Given the description of an element on the screen output the (x, y) to click on. 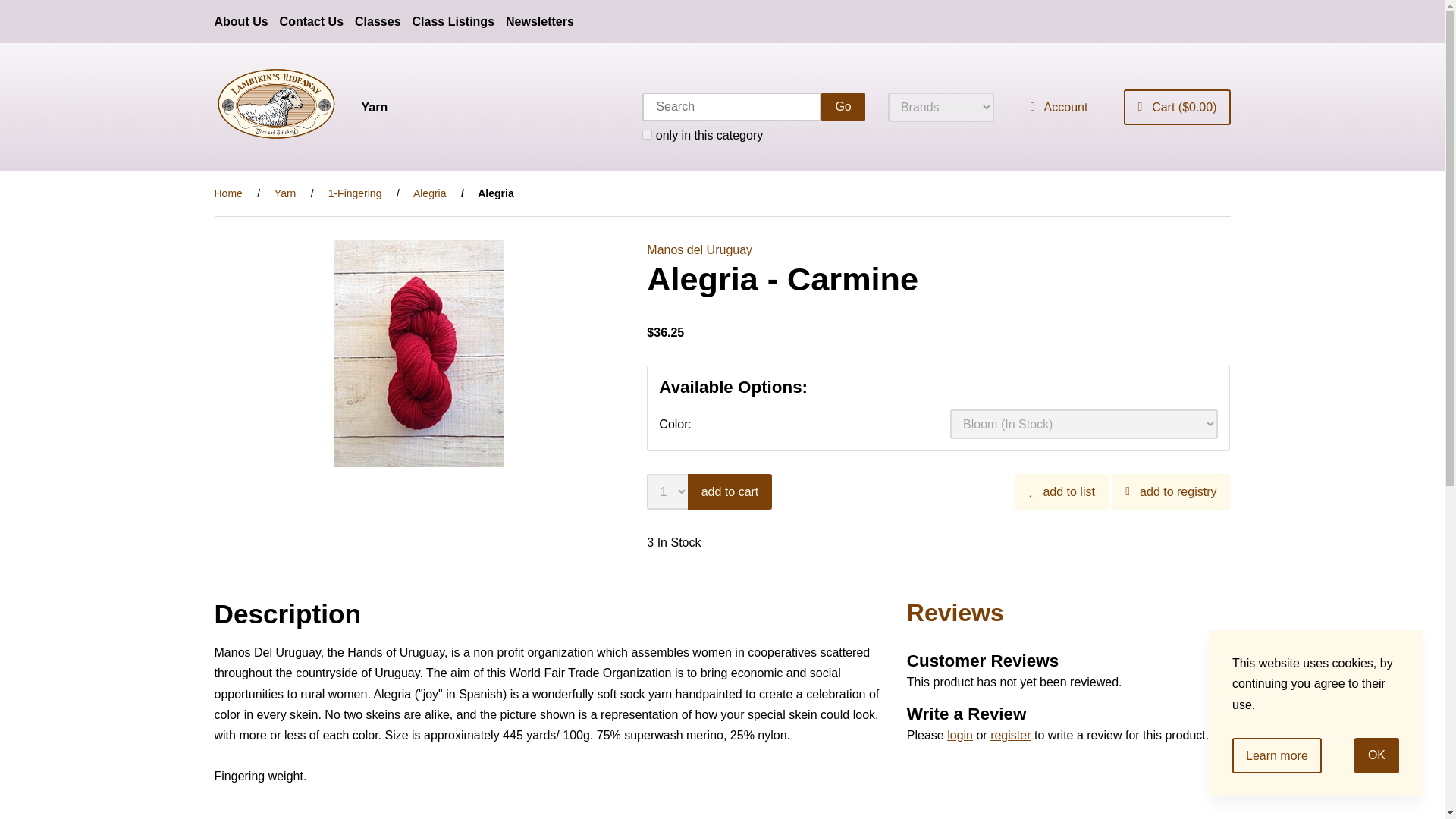
About Us (240, 21)
  add to list (1061, 491)
Yarn (286, 193)
Classes (378, 21)
Manos del Uruguay (699, 249)
register (1010, 735)
  Account (1059, 107)
Alegria (429, 193)
Home (227, 193)
Yarn (374, 107)
add to cart (730, 491)
Learn more (1276, 755)
login (959, 735)
Class Listings (453, 21)
Go (842, 106)
